Given the description of an element on the screen output the (x, y) to click on. 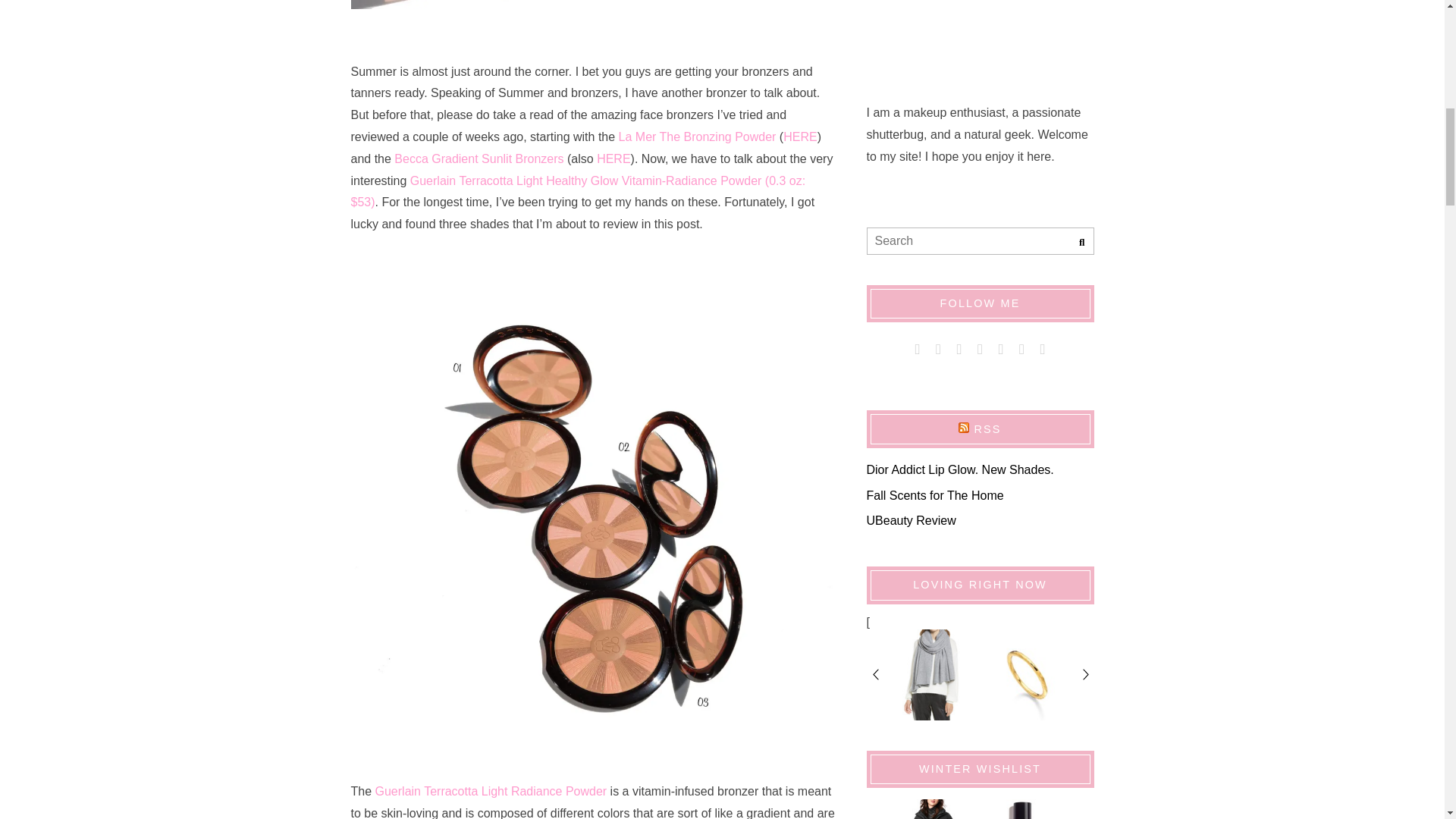
Guerlain Terracotta Light Radiance Powder (491, 790)
Advertisement (979, 39)
Becca Gradient Sunlit Bronzers (478, 158)
La Mer The Bronzing Powder (697, 136)
HERE (799, 136)
HERE (613, 158)
